Given the description of an element on the screen output the (x, y) to click on. 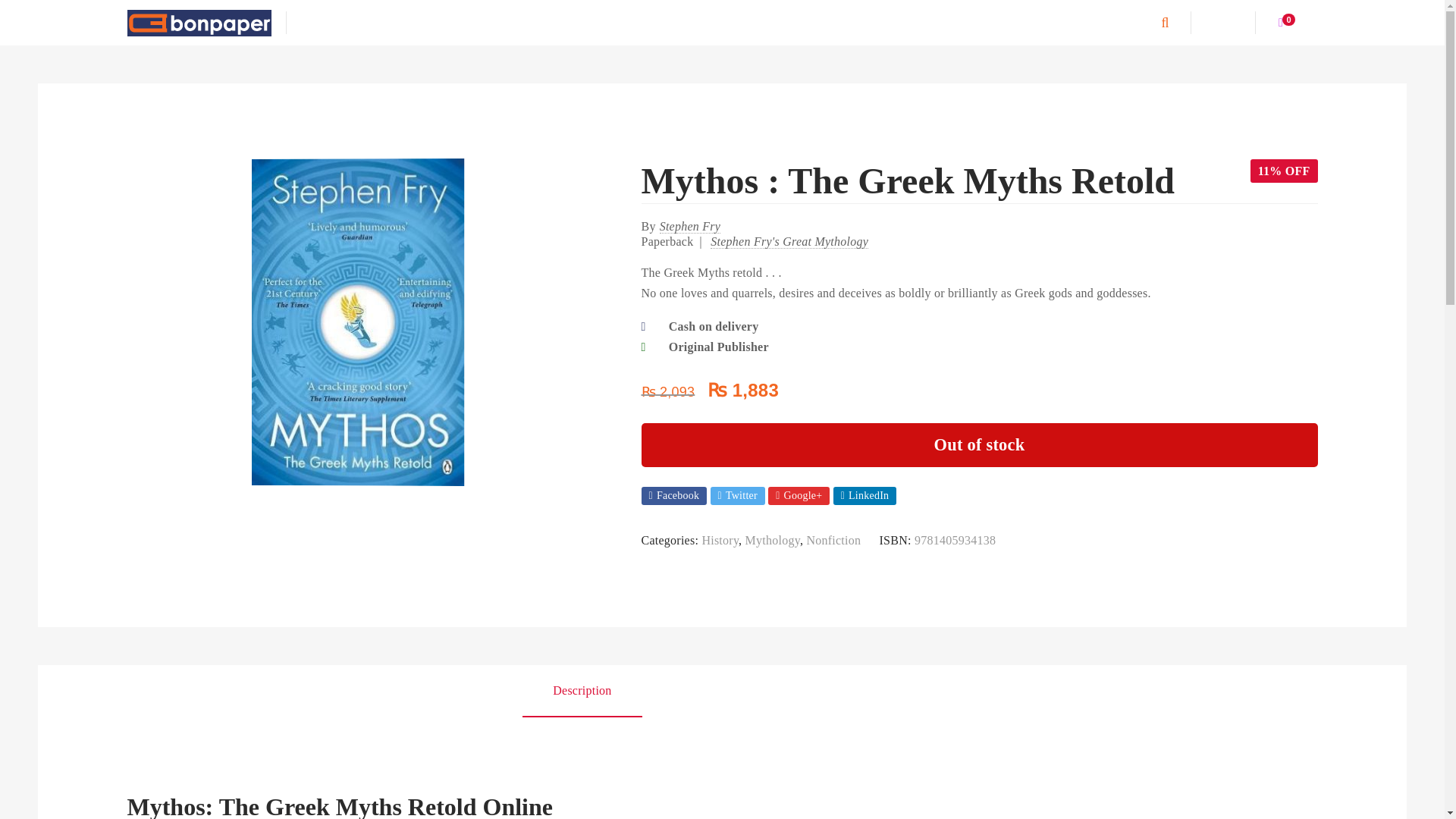
Nonfiction (833, 540)
Description (582, 691)
All Books (334, 22)
Twitter (737, 496)
Book Details (708, 691)
Stephen Fry's Great Mythology (788, 241)
Facebook (674, 496)
New Release (492, 22)
Bonpaper (199, 22)
Gifts (747, 22)
Bestsellers (409, 22)
0 (1286, 22)
Used Books (579, 22)
LinkedIn (864, 496)
Browse all books (334, 22)
